Given the description of an element on the screen output the (x, y) to click on. 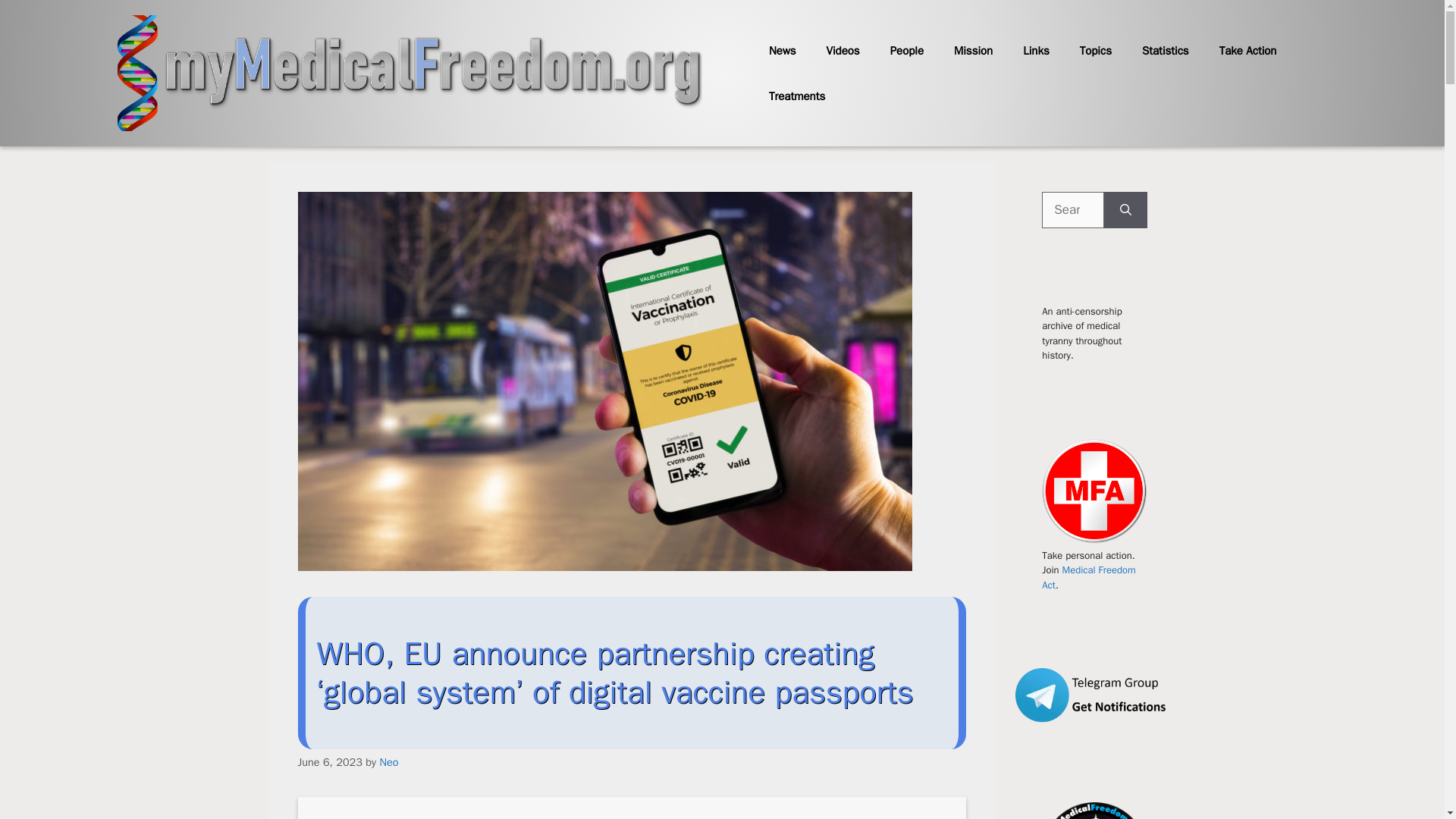
Videos (842, 50)
Treatments (797, 95)
News (782, 50)
Topics (1095, 50)
Neo (387, 762)
Statistics (1165, 50)
Links (1035, 50)
View all posts by Neo (387, 762)
People (907, 50)
Mission (973, 50)
Take Action (1248, 50)
